Given the description of an element on the screen output the (x, y) to click on. 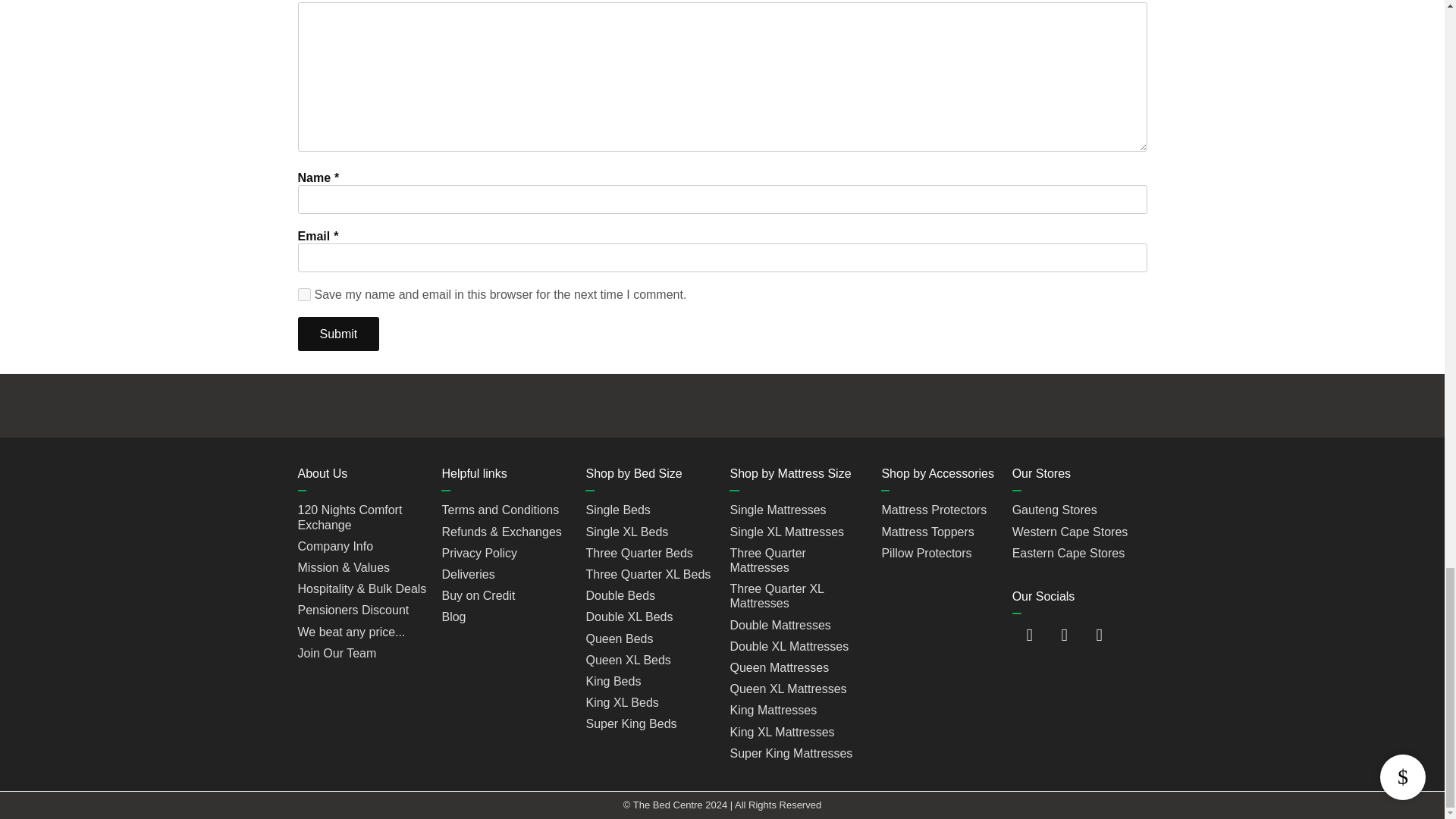
on (303, 294)
